Given the description of an element on the screen output the (x, y) to click on. 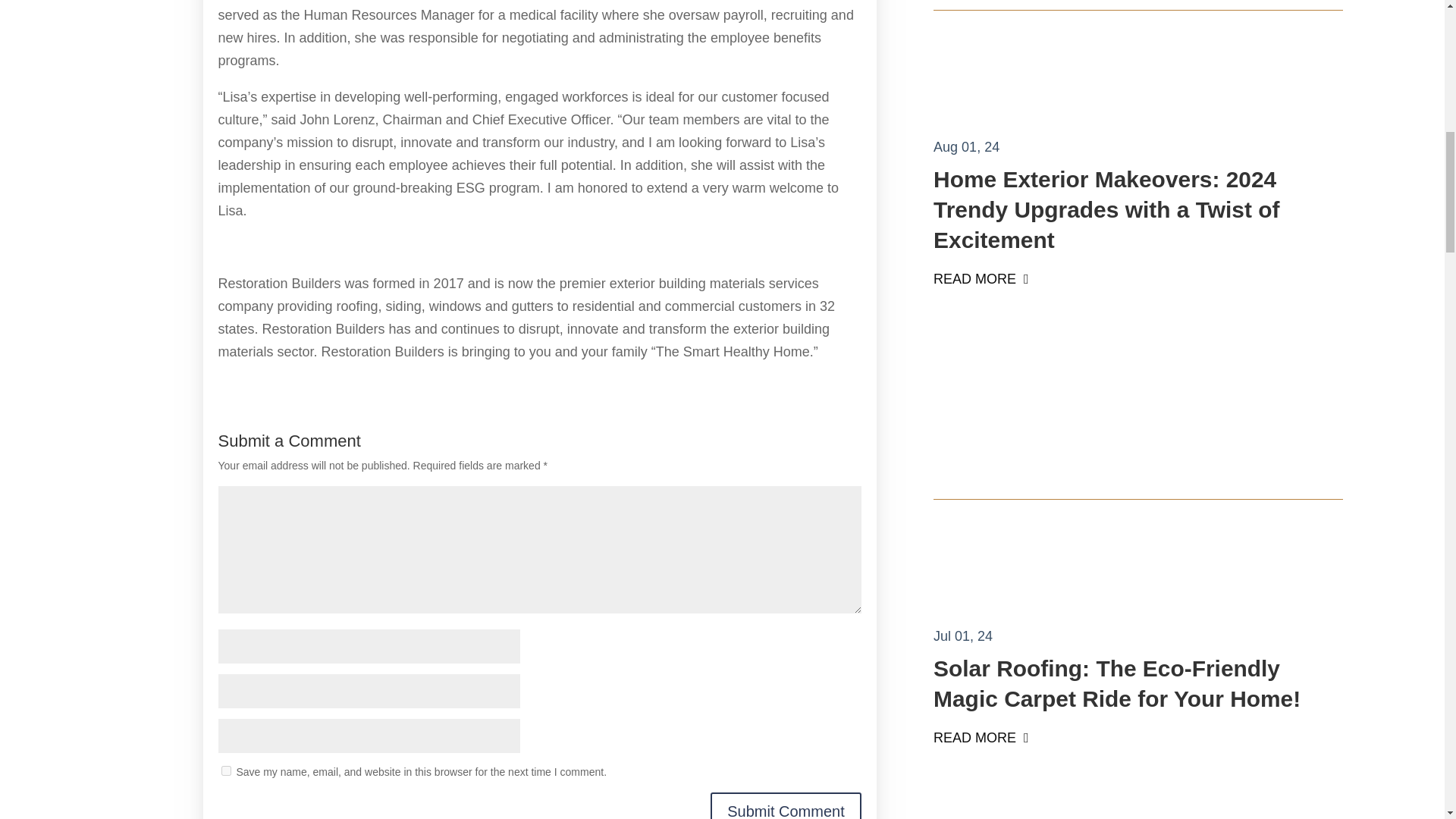
Submit Comment (785, 805)
yes (226, 770)
